Given the description of an element on the screen output the (x, y) to click on. 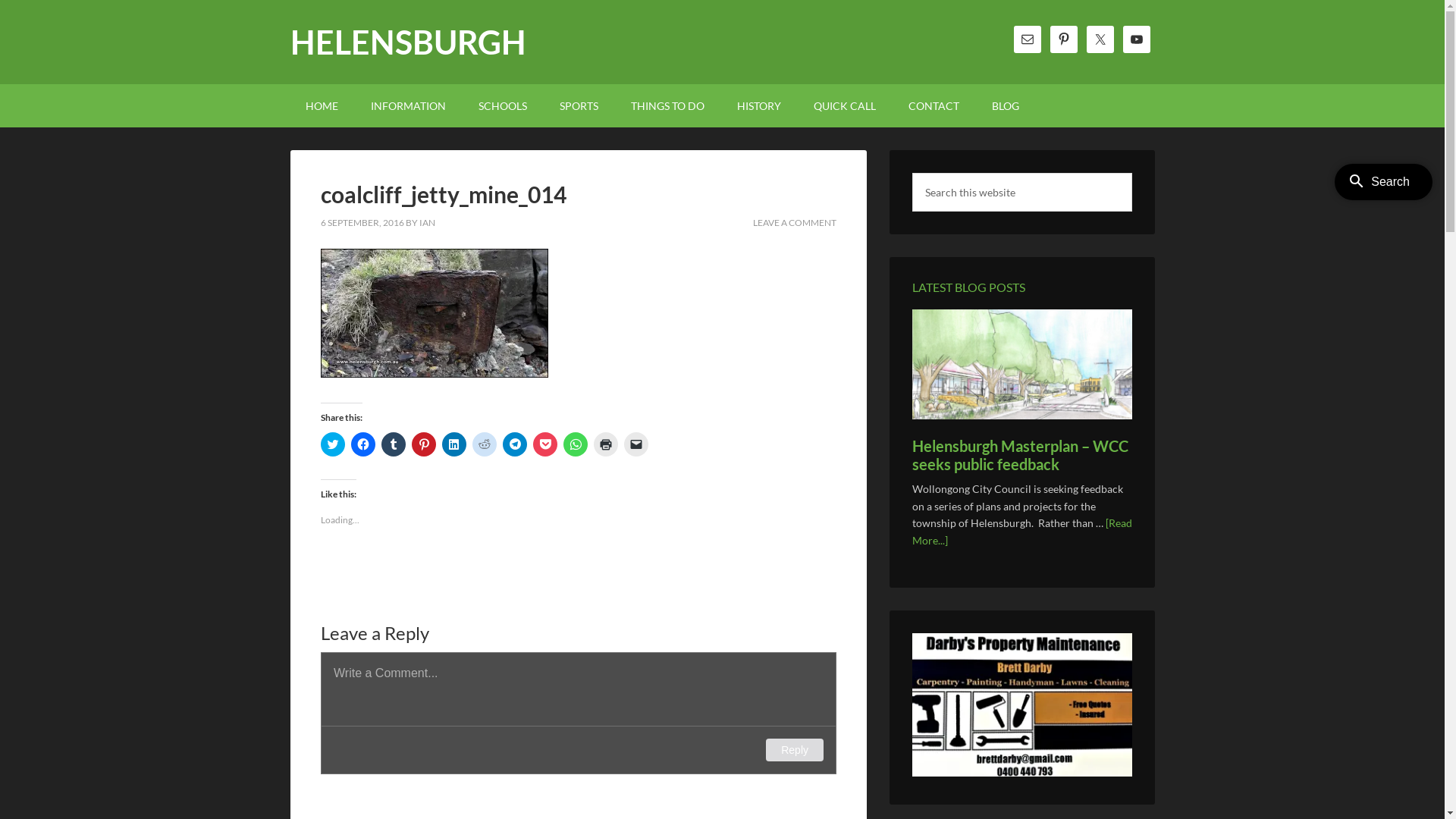
Click to share on Pocket (Opens in new window) Element type: text (544, 444)
Click to share on Twitter (Opens in new window) Element type: text (332, 444)
Click to share on Tumblr (Opens in new window) Element type: text (392, 444)
INFORMATION Element type: text (407, 105)
BLOG Element type: text (1005, 105)
Comment Form Element type: hover (577, 713)
CONTACT Element type: text (933, 105)
LEAVE A COMMENT Element type: text (793, 222)
Search Element type: text (1131, 172)
IAN Element type: text (426, 222)
Click to print (Opens in new window) Element type: text (605, 444)
Click to share on Telegram (Opens in new window) Element type: text (514, 444)
Like or Reblog Element type: hover (577, 571)
QUICK CALL Element type: text (843, 105)
Click to email a link to a friend (Opens in new window) Element type: text (635, 444)
HELENSBURGH Element type: text (407, 41)
SPORTS Element type: text (578, 105)
[Read More...] Element type: text (1021, 531)
Click to share on Pinterest (Opens in new window) Element type: text (423, 444)
THINGS TO DO Element type: text (667, 105)
Click to share on Facebook (Opens in new window) Element type: text (362, 444)
HOME Element type: text (320, 105)
Click to share on WhatsApp (Opens in new window) Element type: text (574, 444)
Click to share on LinkedIn (Opens in new window) Element type: text (453, 444)
SCHOOLS Element type: text (501, 105)
Click to share on Reddit (Opens in new window) Element type: text (483, 444)
HISTORY Element type: text (758, 105)
